Given the description of an element on the screen output the (x, y) to click on. 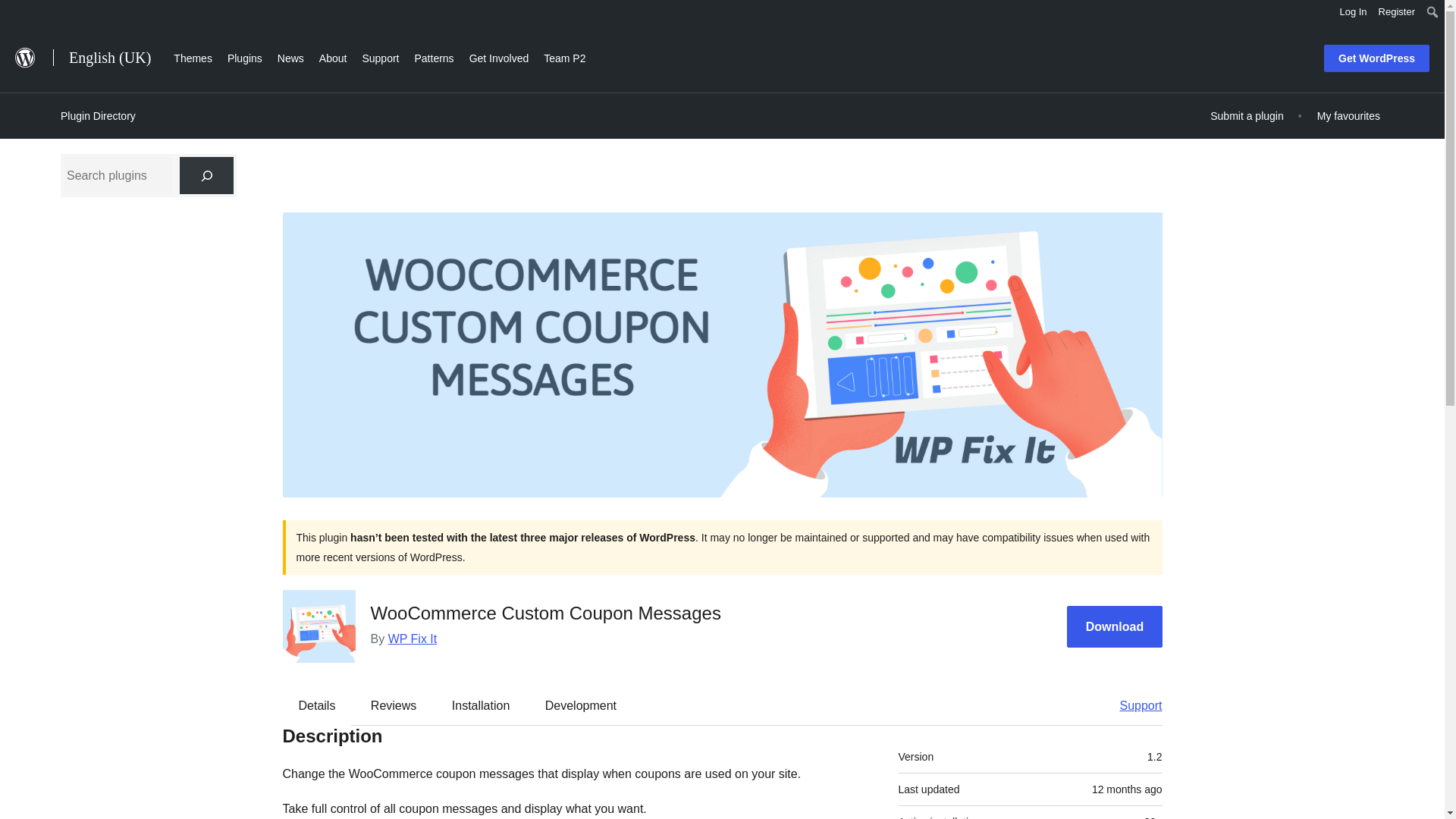
Installation (480, 704)
Get WordPress (1376, 58)
Support (1132, 704)
Plugin Directory (97, 116)
Submit a plugin (1247, 115)
Download (1114, 626)
Details (316, 704)
Get Involved (499, 56)
Development (580, 704)
WP Fix It (413, 638)
Register (1397, 12)
My favourites (1348, 115)
Reviews (392, 704)
Log In (1353, 12)
Search (16, 13)
